Given the description of an element on the screen output the (x, y) to click on. 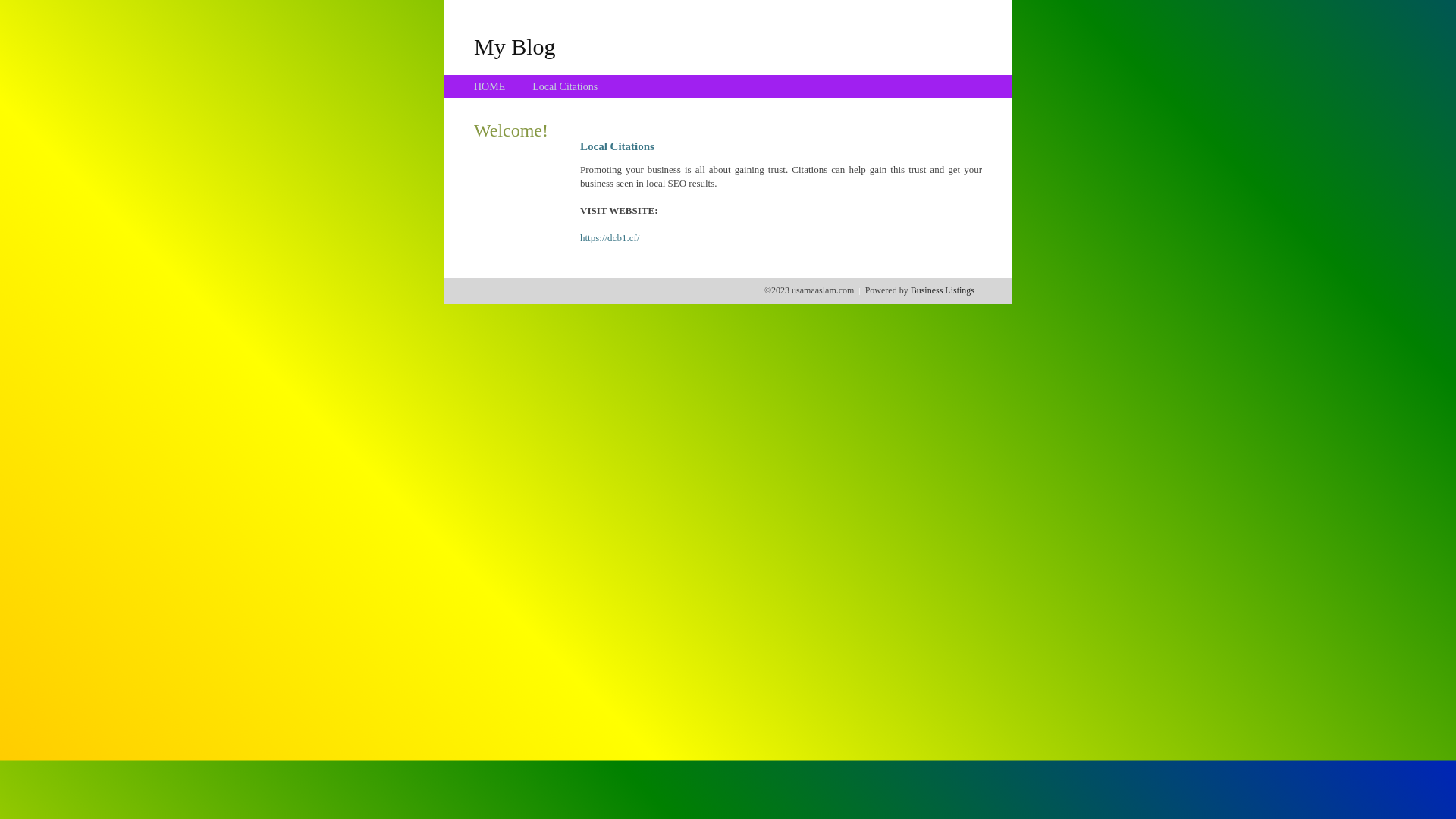
Business Listings Element type: text (942, 290)
https://dcb1.cf/ Element type: text (609, 237)
HOME Element type: text (489, 86)
Local Citations Element type: text (564, 86)
My Blog Element type: text (514, 46)
